Given the description of an element on the screen output the (x, y) to click on. 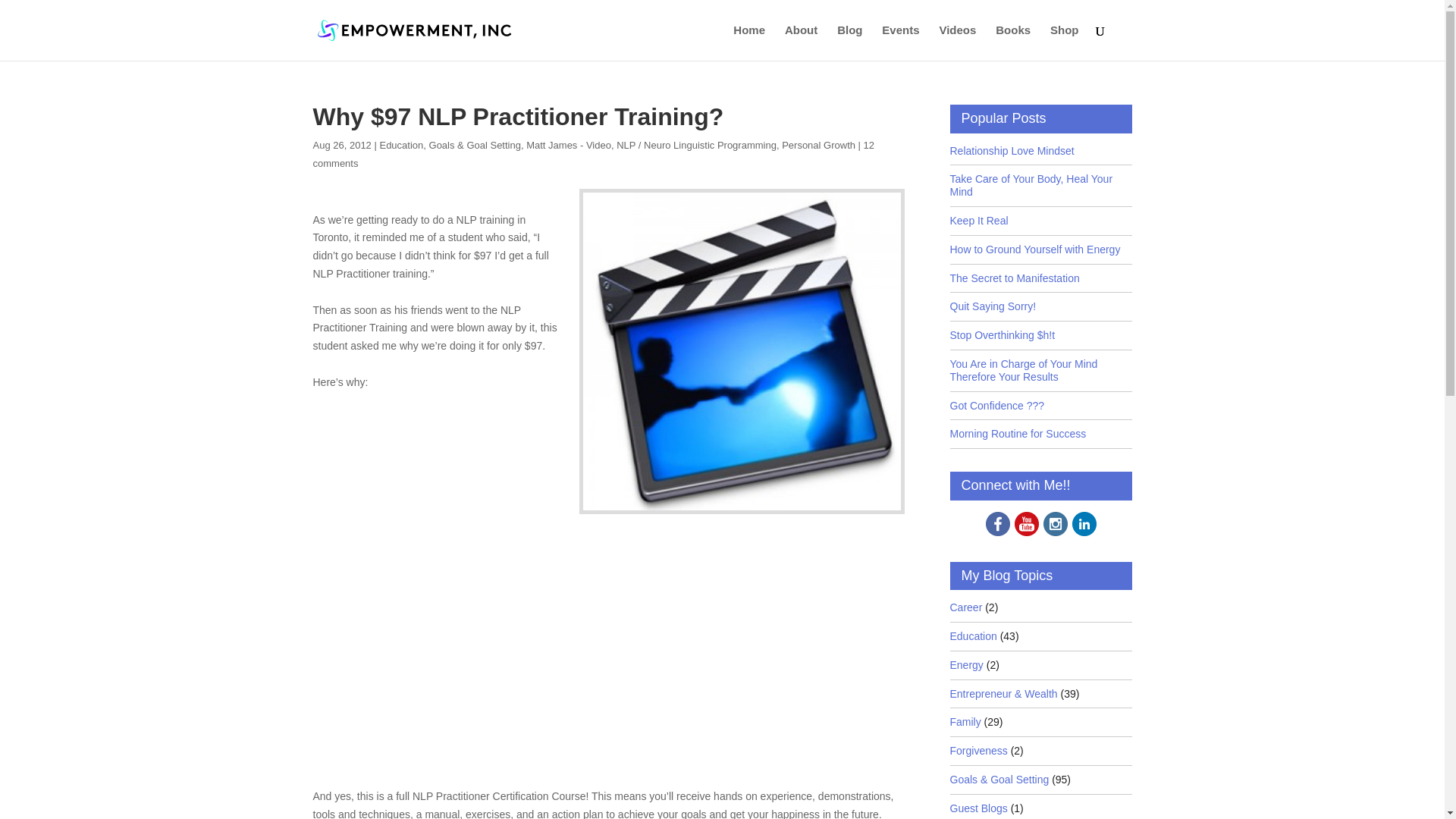
About (800, 42)
Books (1012, 42)
Got Confidence ??? (996, 405)
Family (964, 721)
Education (400, 144)
Take Care of Your Body, Heal Your Mind (1040, 185)
Relationship Love Mindset (1011, 151)
How to Ground Yourself with Energy (1034, 249)
Matt James - Video (568, 144)
You Are in Charge of Your Mind Therefore Your Results (1040, 370)
Forgiveness (978, 750)
Energy (965, 665)
Personal Growth (818, 144)
Videos (957, 42)
Education (972, 635)
